Given the description of an element on the screen output the (x, y) to click on. 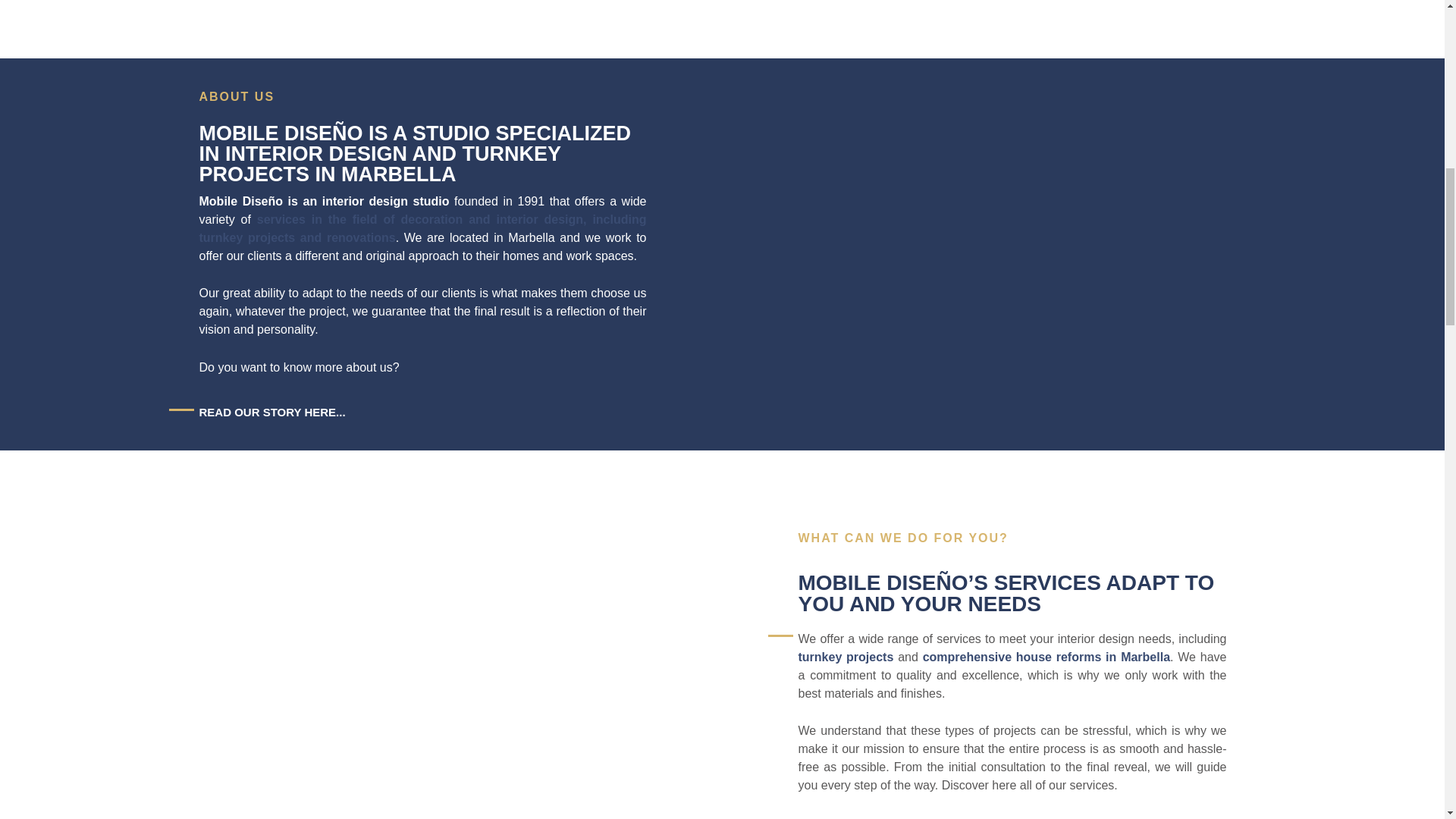
READ OUR STORY HERE... (271, 411)
